Given the description of an element on the screen output the (x, y) to click on. 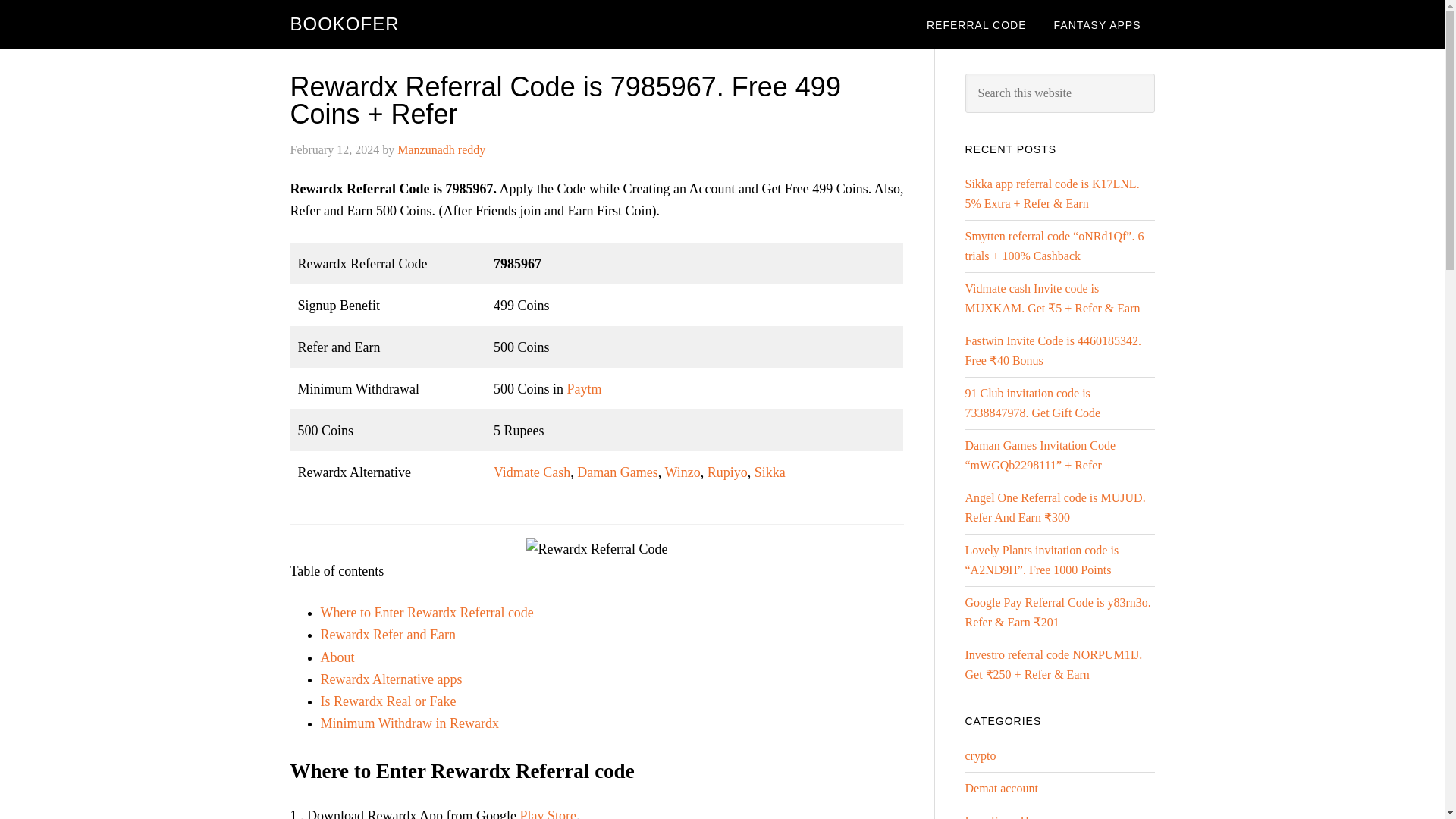
Rewardx Refer and Earn (387, 634)
About (336, 656)
91 Club invitation code is 7338847978. Get Gift Code (1031, 402)
Sikka (770, 471)
Where to Enter Rewardx Referral code (426, 612)
Play Store (547, 813)
Paytm (583, 387)
Daman Games (617, 471)
Earn From Home (1006, 816)
Winzo (682, 471)
BOOKOFER (343, 23)
Manzunadh reddy (440, 149)
